Given the description of an element on the screen output the (x, y) to click on. 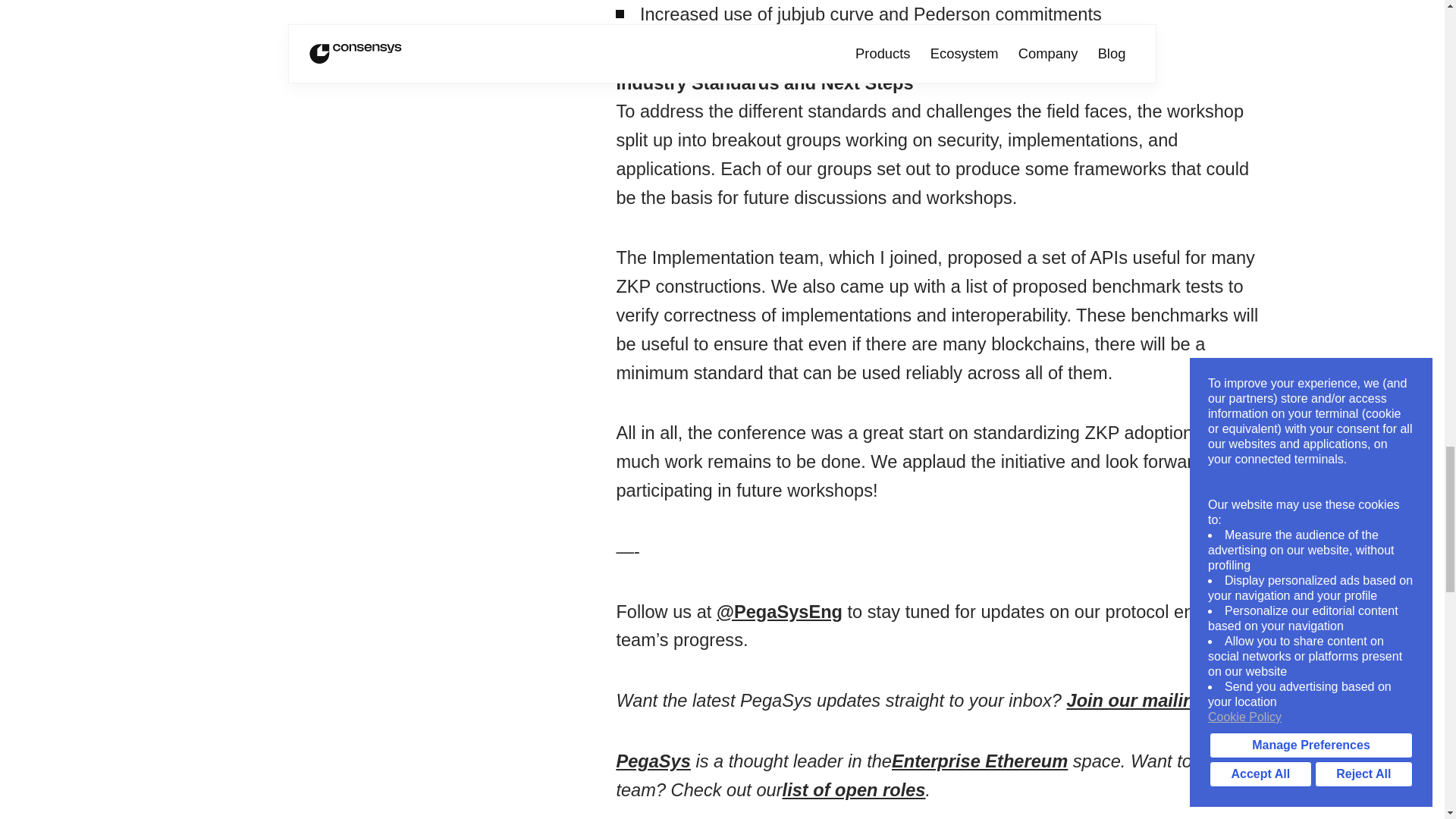
PegaSys (652, 761)
list of open roles (854, 790)
Join our mailing list (1149, 701)
Enterprise Ethereum (979, 761)
